Given the description of an element on the screen output the (x, y) to click on. 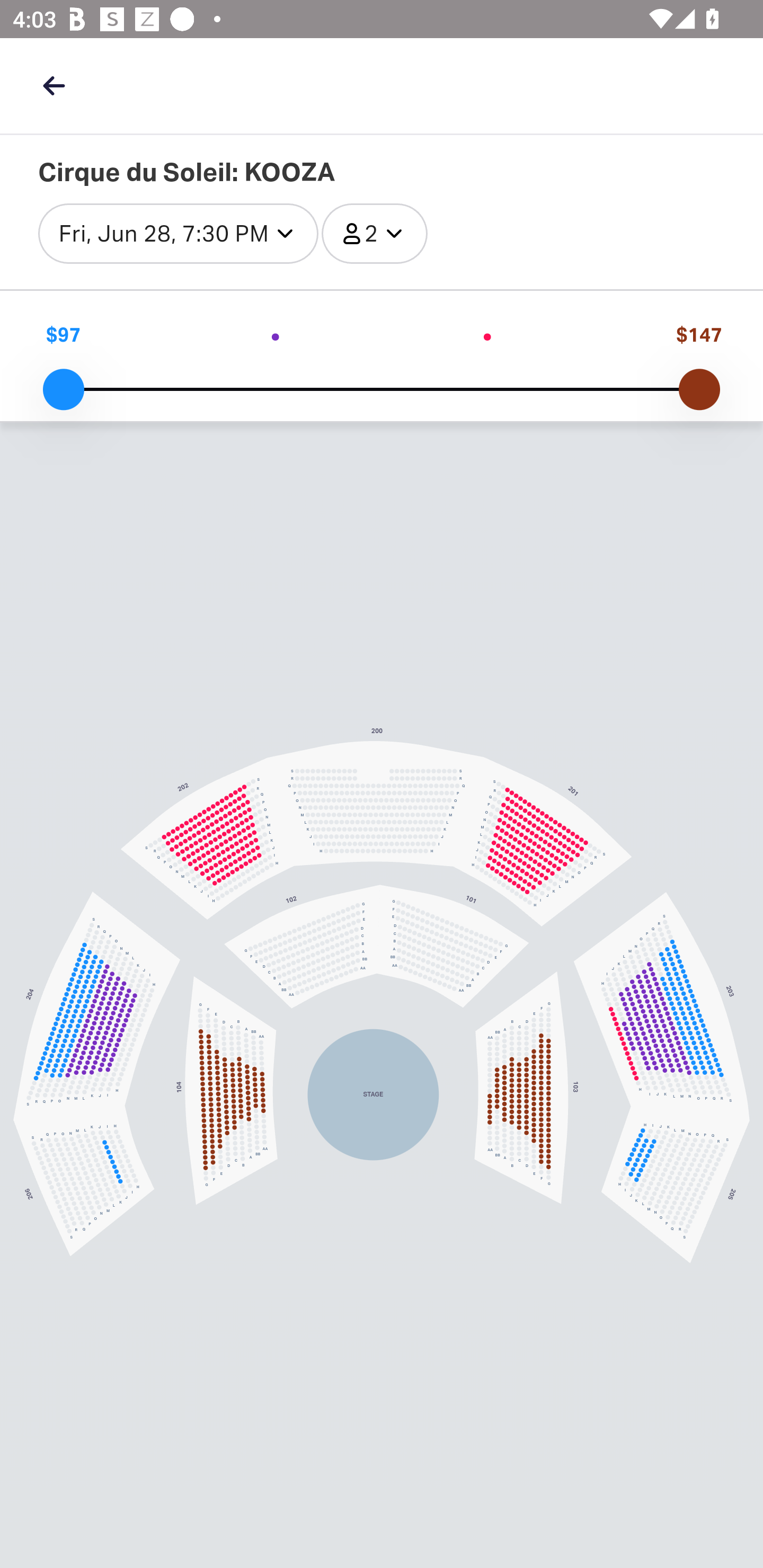
back button (53, 85)
Fri, Jun 28, 7:30 PM (178, 232)
2 (374, 232)
$97 (62, 334)
• (275, 334)
• (486, 334)
$147 (699, 334)
0.0 (62, 387)
100.0 (699, 387)
